Given the description of an element on the screen output the (x, y) to click on. 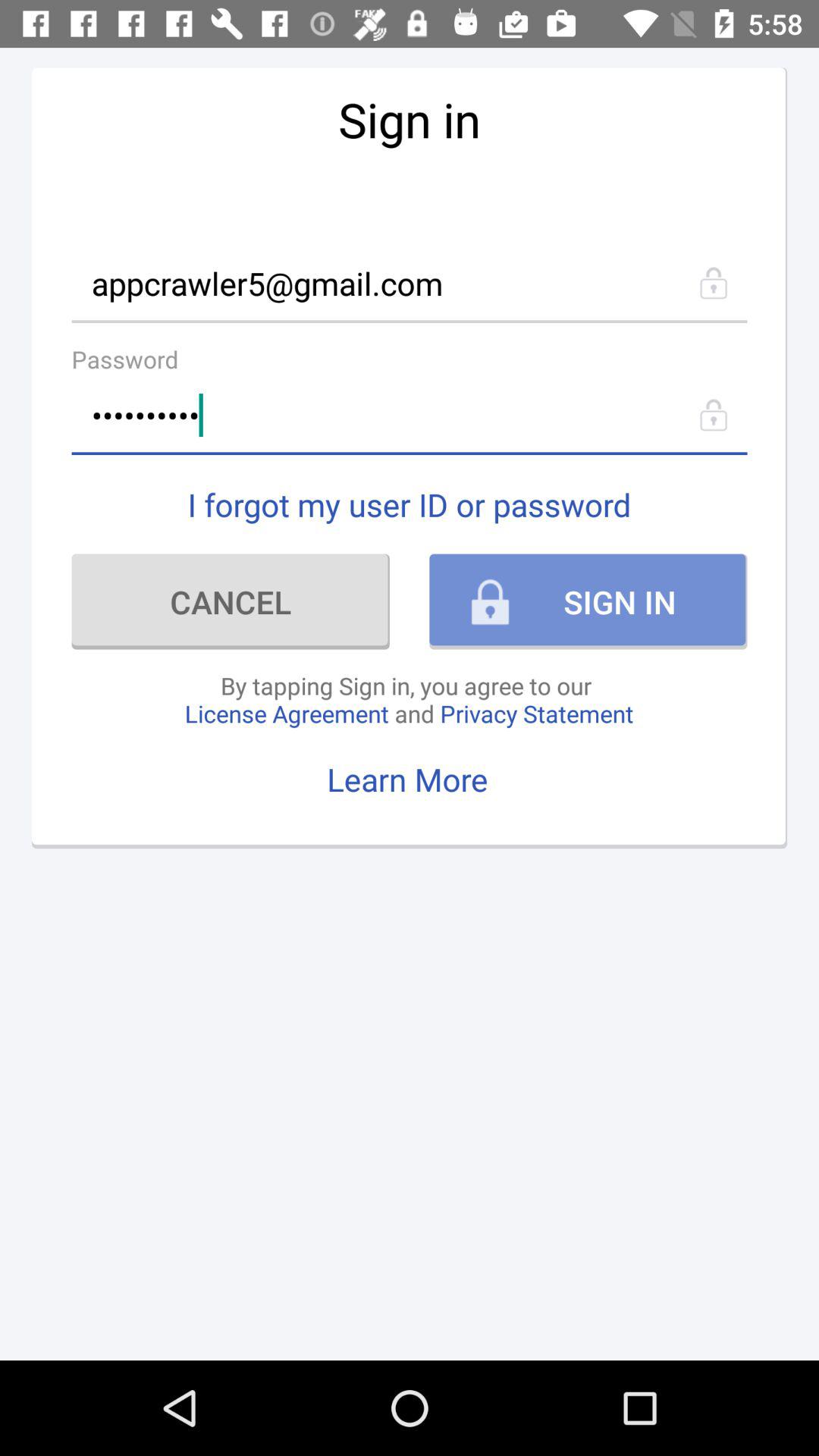
jump to the by tapping sign icon (408, 699)
